Given the description of an element on the screen output the (x, y) to click on. 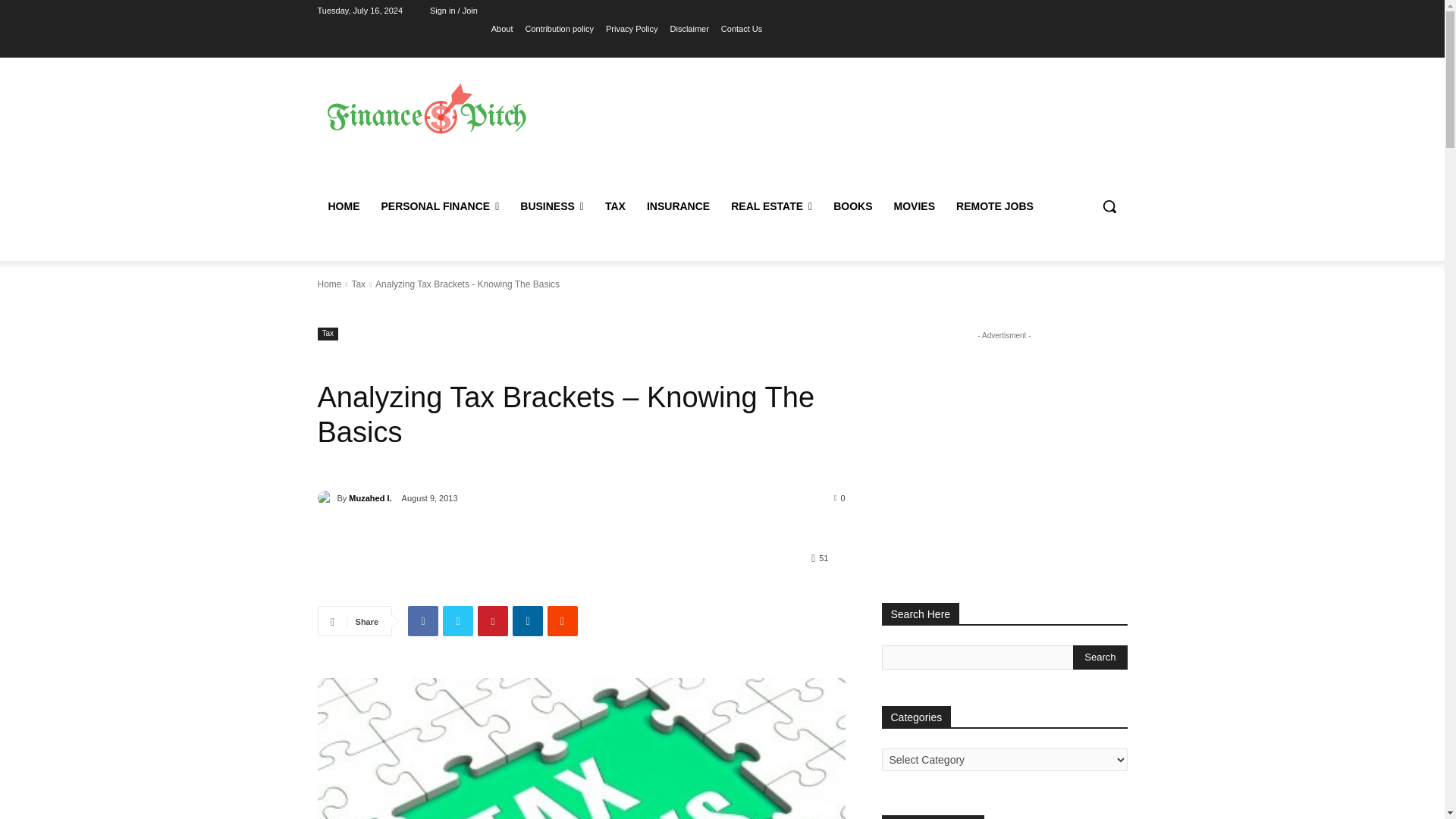
REMOTE JOBS (993, 206)
Contribution policy (559, 28)
About (502, 28)
Pinterest (492, 621)
Contact Us (740, 28)
BUSINESS (551, 206)
MOVIES (913, 206)
PERSONAL FINANCE (439, 206)
Advertisement (849, 128)
Disclaimer (689, 28)
Facebook (422, 621)
View all posts in Tax (357, 284)
TAX (615, 206)
ReddIt (562, 621)
Privacy Policy (631, 28)
